Given the description of an element on the screen output the (x, y) to click on. 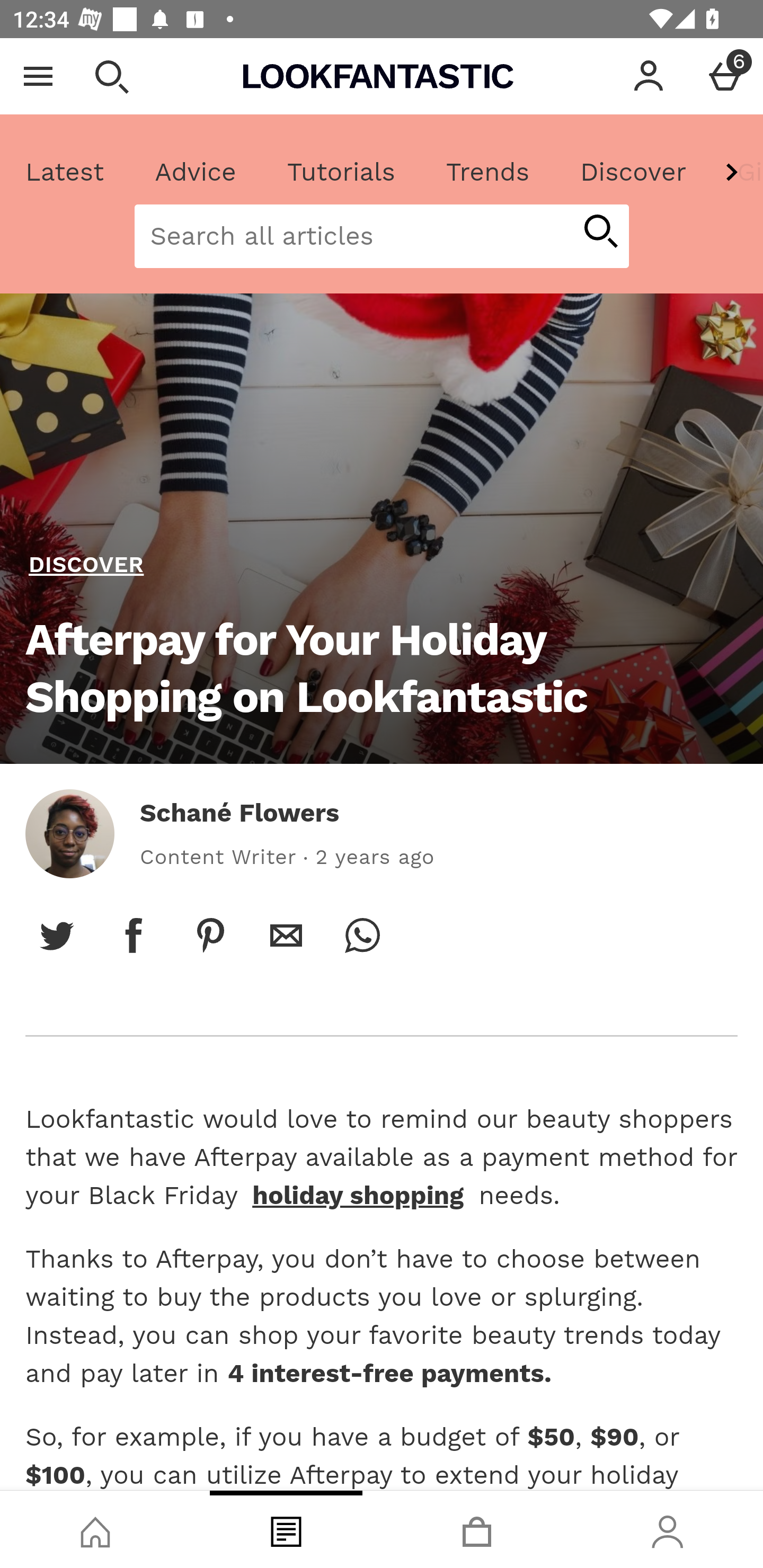
Open Menu (38, 75)
Open search (111, 75)
Account (648, 75)
Basket Menu (724, 75)
Lookfantastic USA Home page (378, 76)
Latest (65, 172)
Advice (195, 172)
Tutorials (340, 172)
Trends (486, 172)
Discover (632, 172)
Gift Guide (736, 172)
start article search (599, 232)
DISCOVER (86, 565)
View Schané Flowers's profile (69, 833)
Schané Flowers (239, 812)
Share this on Twitter (57, 935)
Share this on Facebook (133, 935)
Share this on Pinterest (209, 935)
Share this by Email (286, 935)
Share this on WhatsApp (362, 935)
holiday shopping (357, 1194)
Shop, tab, 1 of 4 (95, 1529)
Blog, tab, 2 of 4 (285, 1529)
Basket, tab, 3 of 4 (476, 1529)
Account, tab, 4 of 4 (667, 1529)
